Given the description of an element on the screen output the (x, y) to click on. 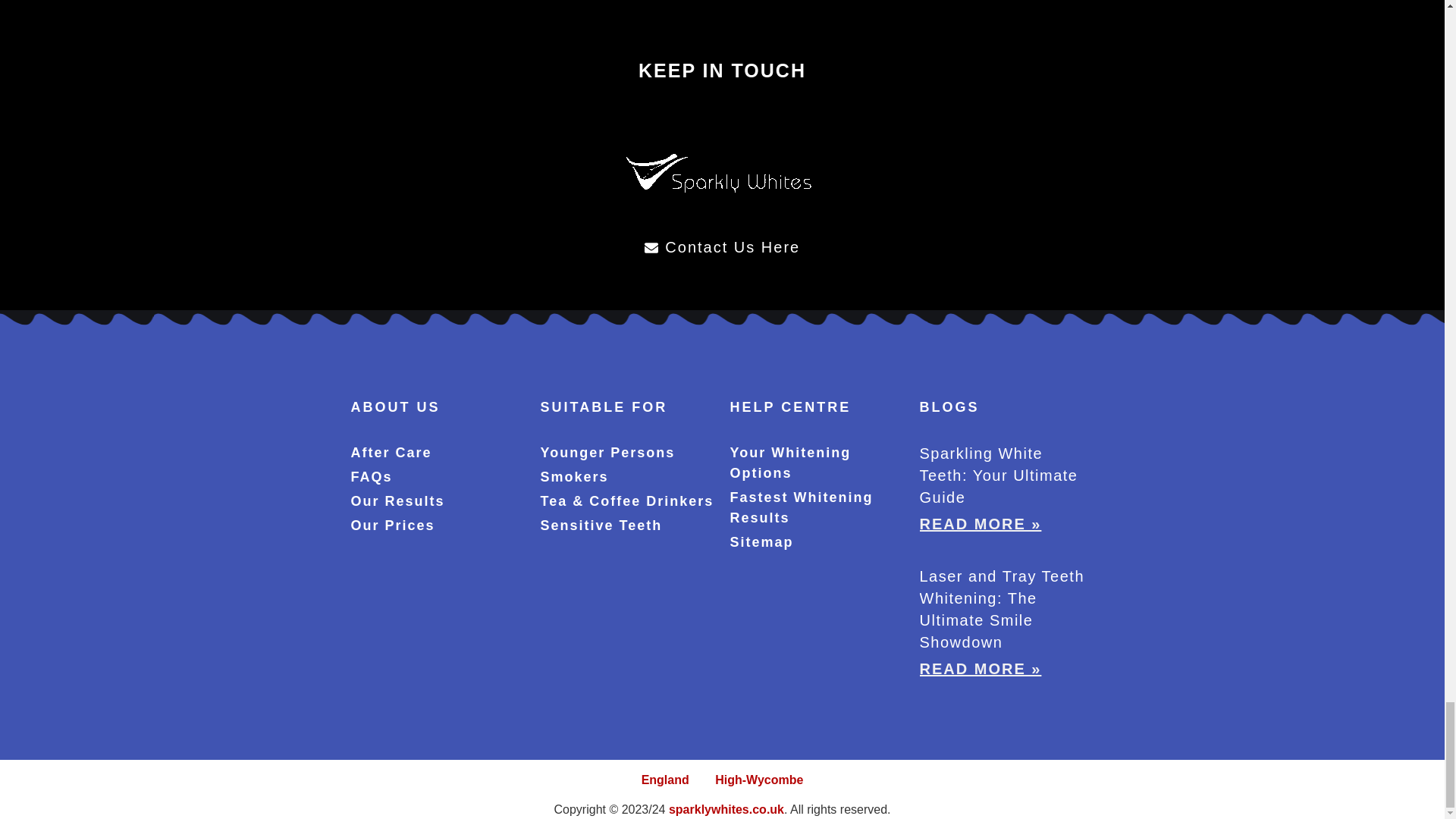
After Care (437, 453)
FAQs (437, 476)
Contact Us Here (722, 247)
